Given the description of an element on the screen output the (x, y) to click on. 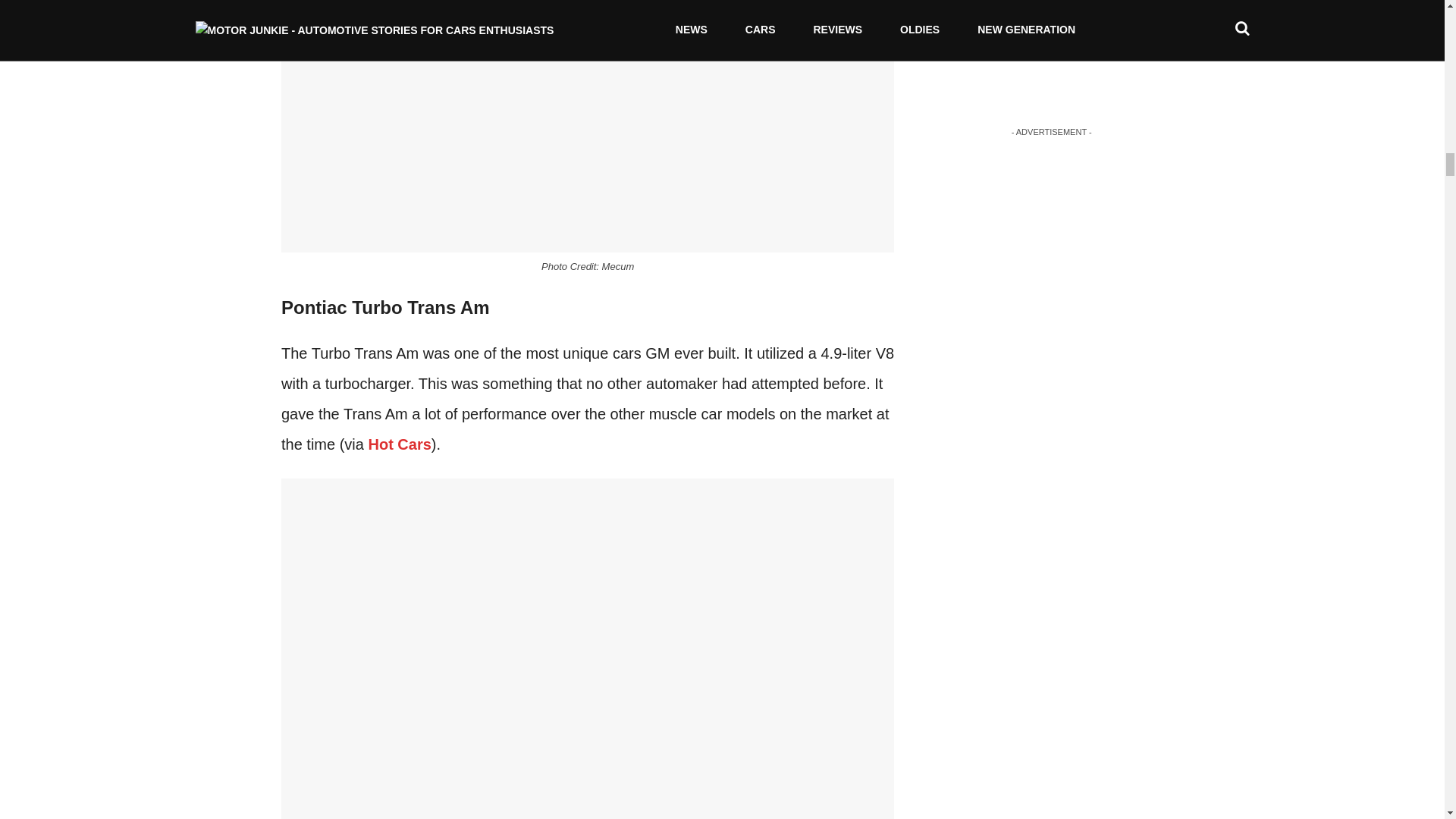
Hot Cars (399, 443)
